Given the description of an element on the screen output the (x, y) to click on. 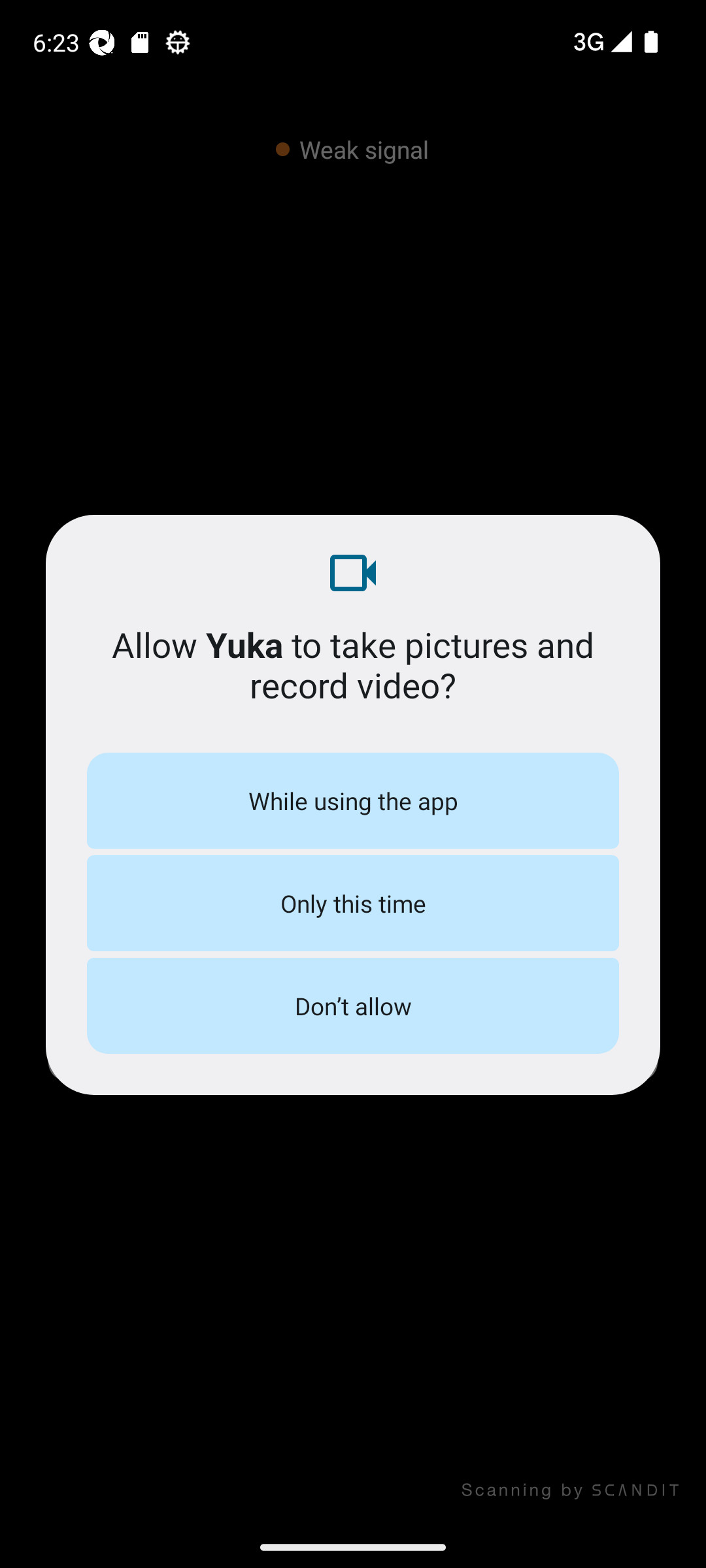
While using the app (352, 800)
Only this time (352, 902)
Don’t allow (352, 1005)
